Given the description of an element on the screen output the (x, y) to click on. 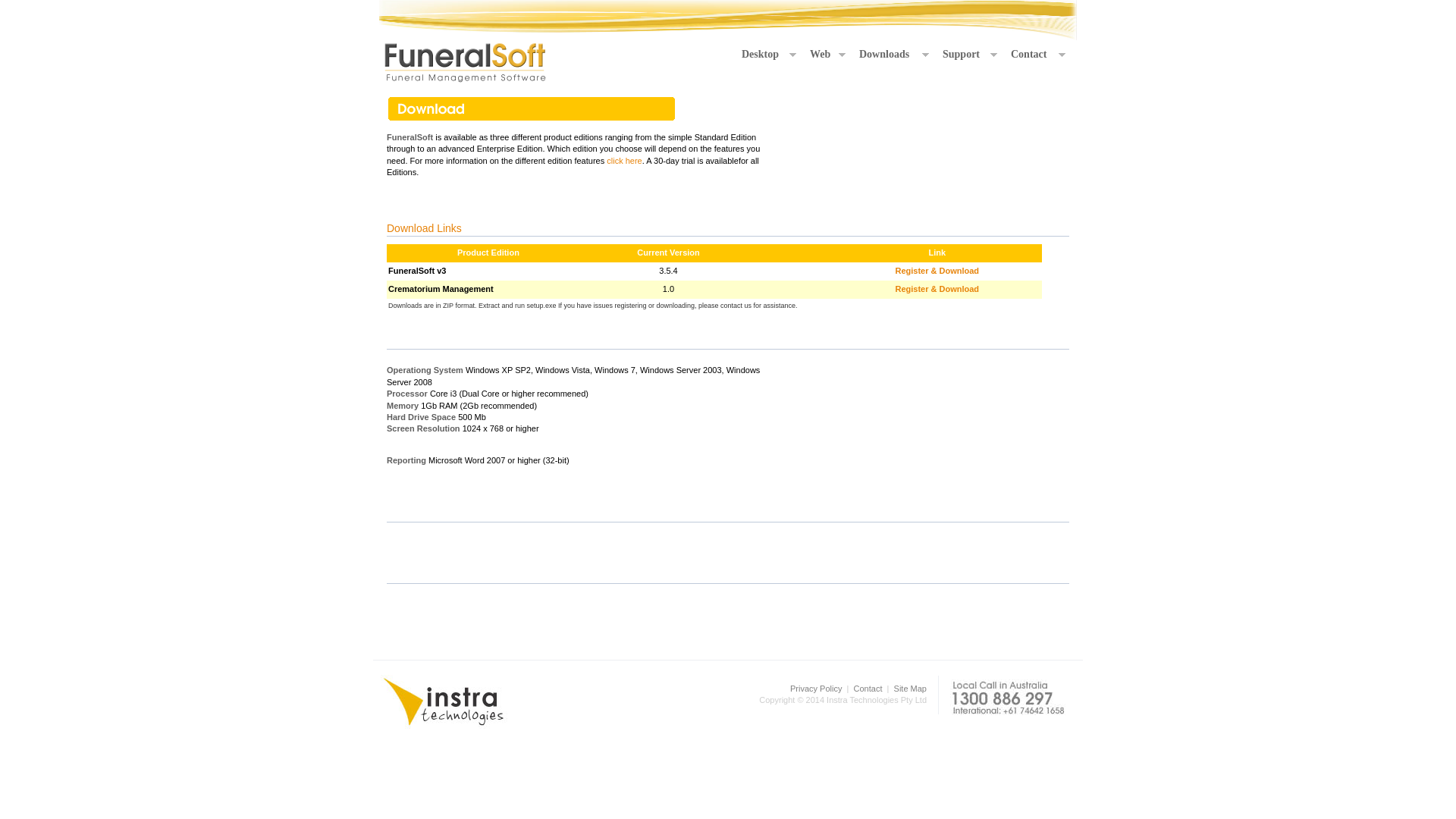
Instra Technologies Pty Ltd Element type: hover (443, 701)
Register & Download Element type: text (936, 270)
Register & Download Element type: text (936, 288)
Contact Element type: text (1037, 54)
Web Element type: text (826, 54)
Support Element type: text (969, 54)
Downloads Element type: text (893, 54)
Contact Element type: text (867, 688)
Site Map Element type: text (910, 688)
Desktop Element type: text (768, 54)
click here Element type: text (623, 160)
Privacy Policy Element type: text (815, 688)
